Given the description of an element on the screen output the (x, y) to click on. 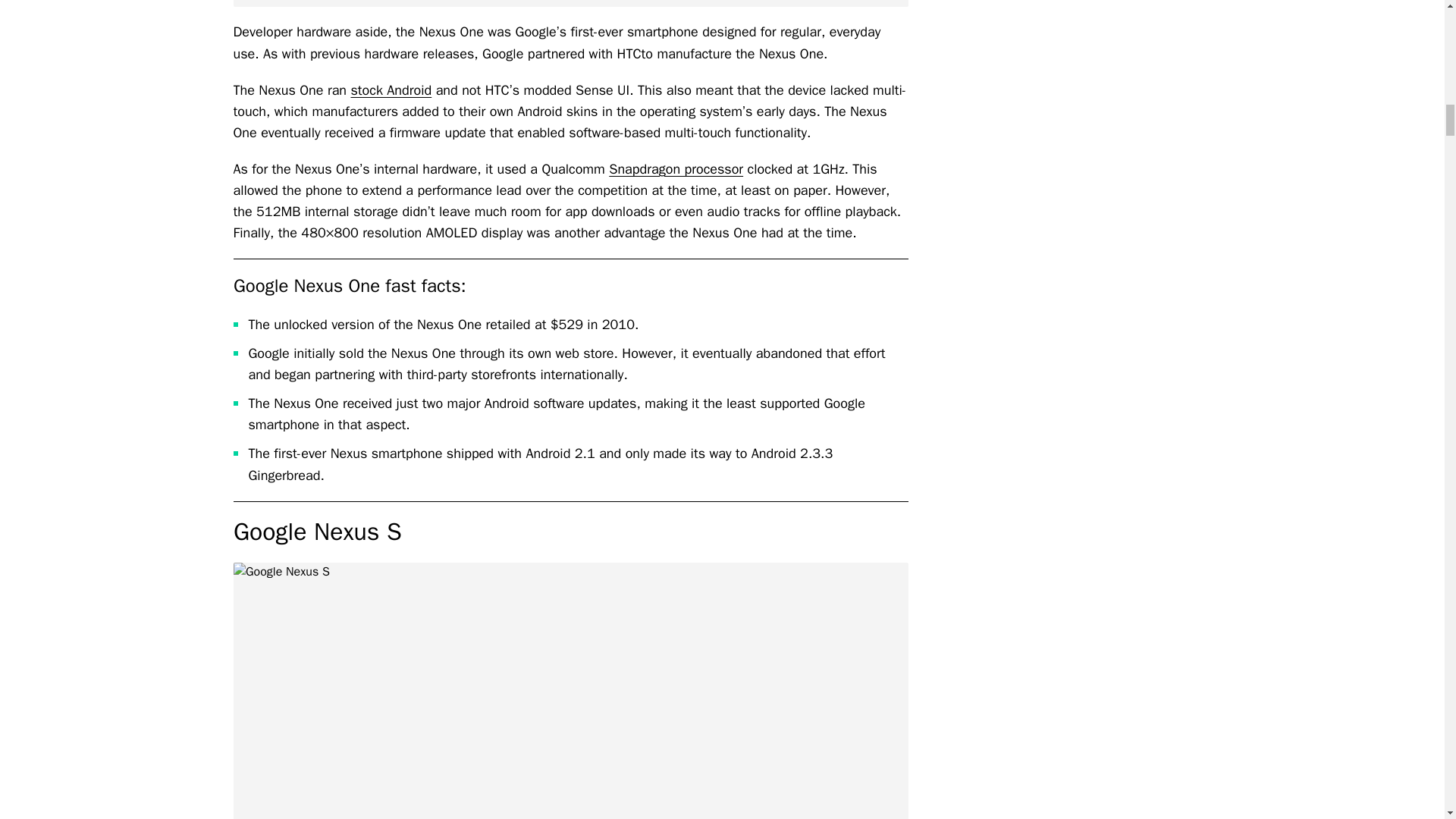
stock Android (390, 89)
Snapdragon processor (675, 168)
